Given the description of an element on the screen output the (x, y) to click on. 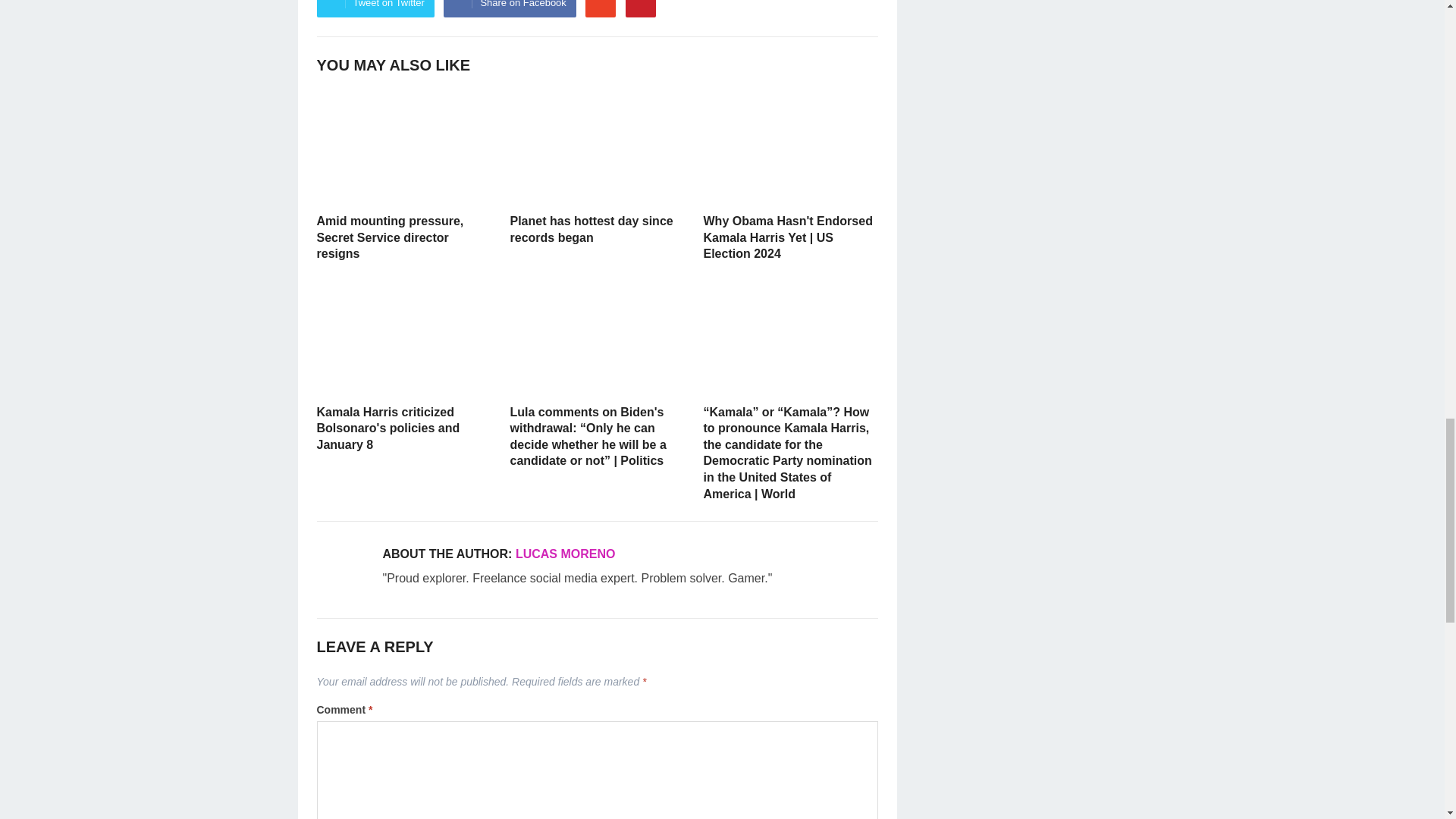
Tweet on Twitter (375, 8)
Pinterest (641, 8)
Kamala Harris criticized Bolsonaro's policies and January 8 (404, 337)
Amid mounting pressure, Secret Service director resigns (404, 146)
Planet has hottest day since records began (596, 146)
Amid mounting pressure, Secret Service director resigns (390, 237)
Share on Facebook (509, 8)
